Given the description of an element on the screen output the (x, y) to click on. 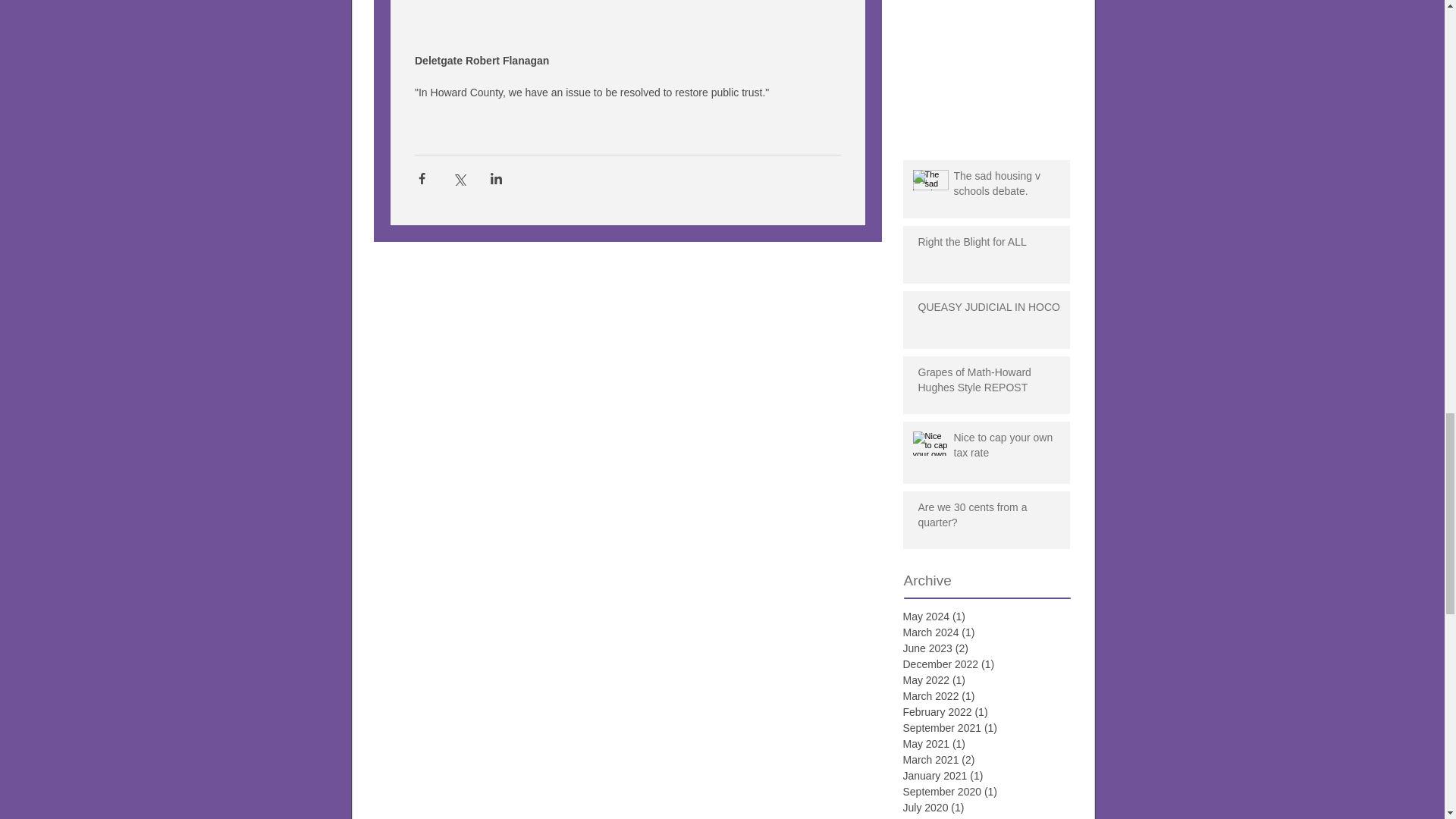
The sad housing v schools debate. (1009, 186)
Grapes of Math-Howard Hughes Style REPOST (990, 383)
Are we 30 cents from a quarter? (990, 518)
Right the Blight for ALL (990, 245)
QUEASY JUDICIAL IN HOCO (990, 310)
Nice to cap your own tax rate (1009, 448)
